Given the description of an element on the screen output the (x, y) to click on. 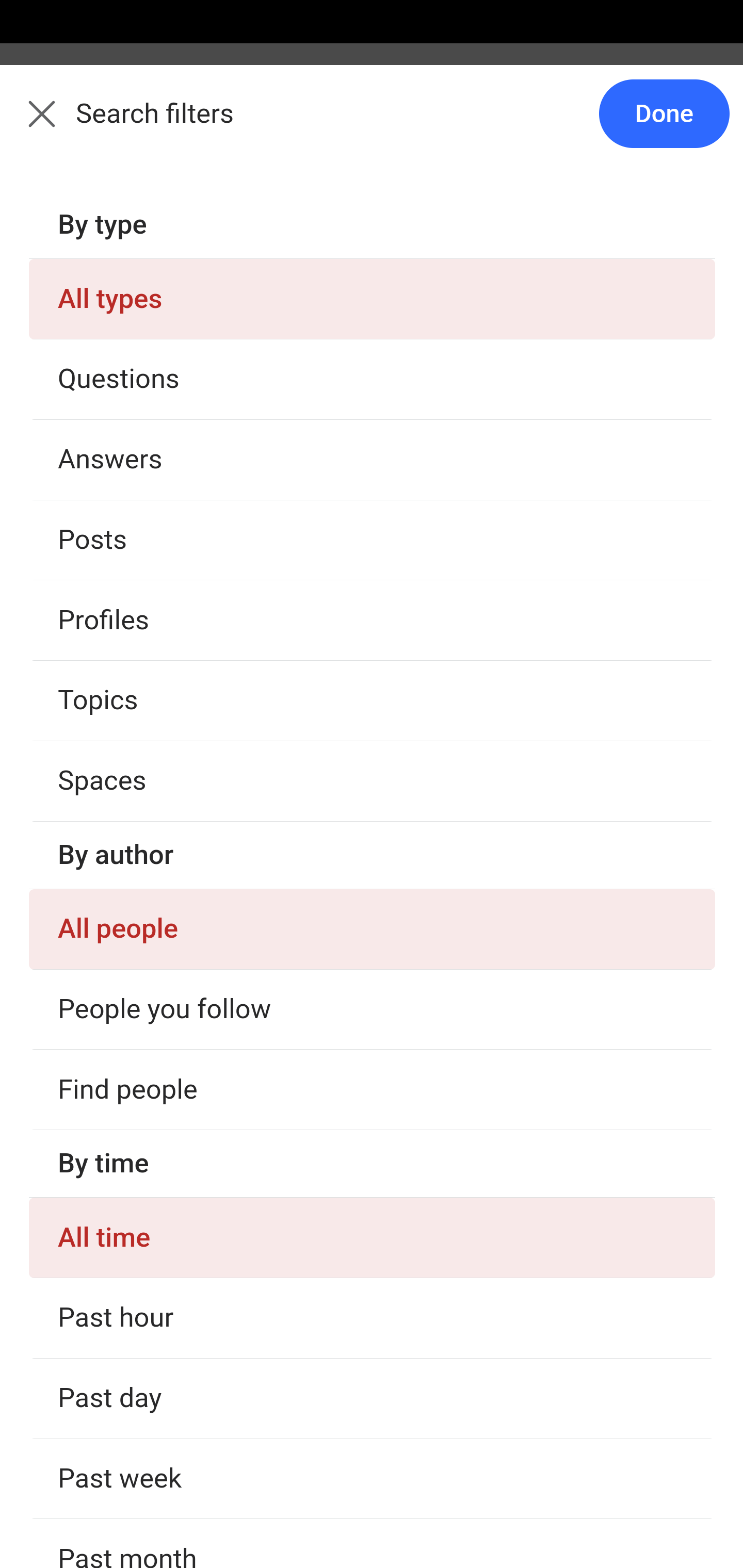
Back Search (371, 125)
Back (30, 125)
Answer (125, 387)
Answer (125, 784)
Answer (125, 1179)
